Given the description of an element on the screen output the (x, y) to click on. 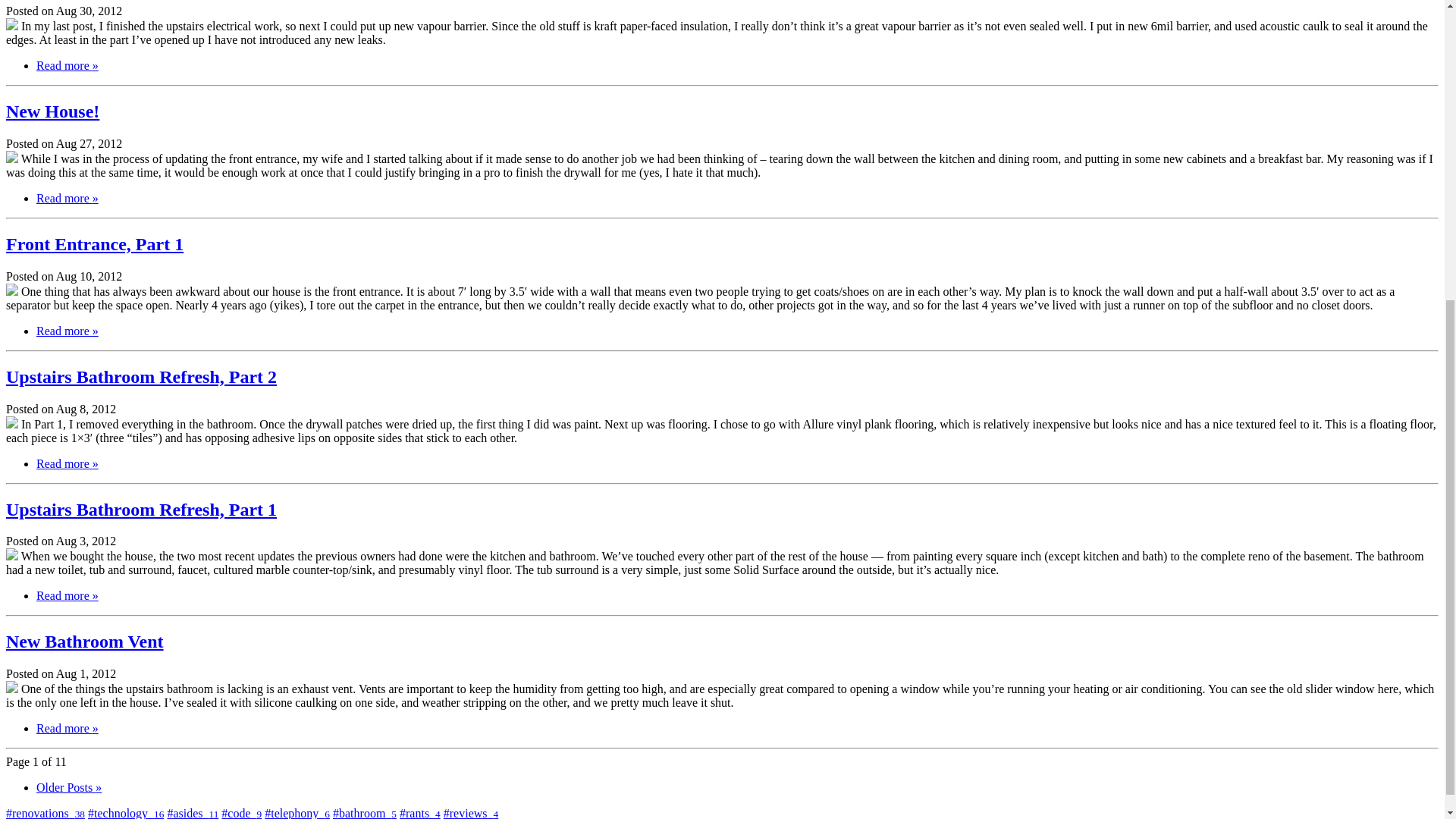
Upstairs Bathroom Refresh, Part 2 (140, 376)
Front Entrance, Part 1 (94, 243)
Upstairs Bathroom Refresh, Part 1 (140, 508)
New Bathroom Vent (84, 641)
New House! (52, 111)
